Given the description of an element on the screen output the (x, y) to click on. 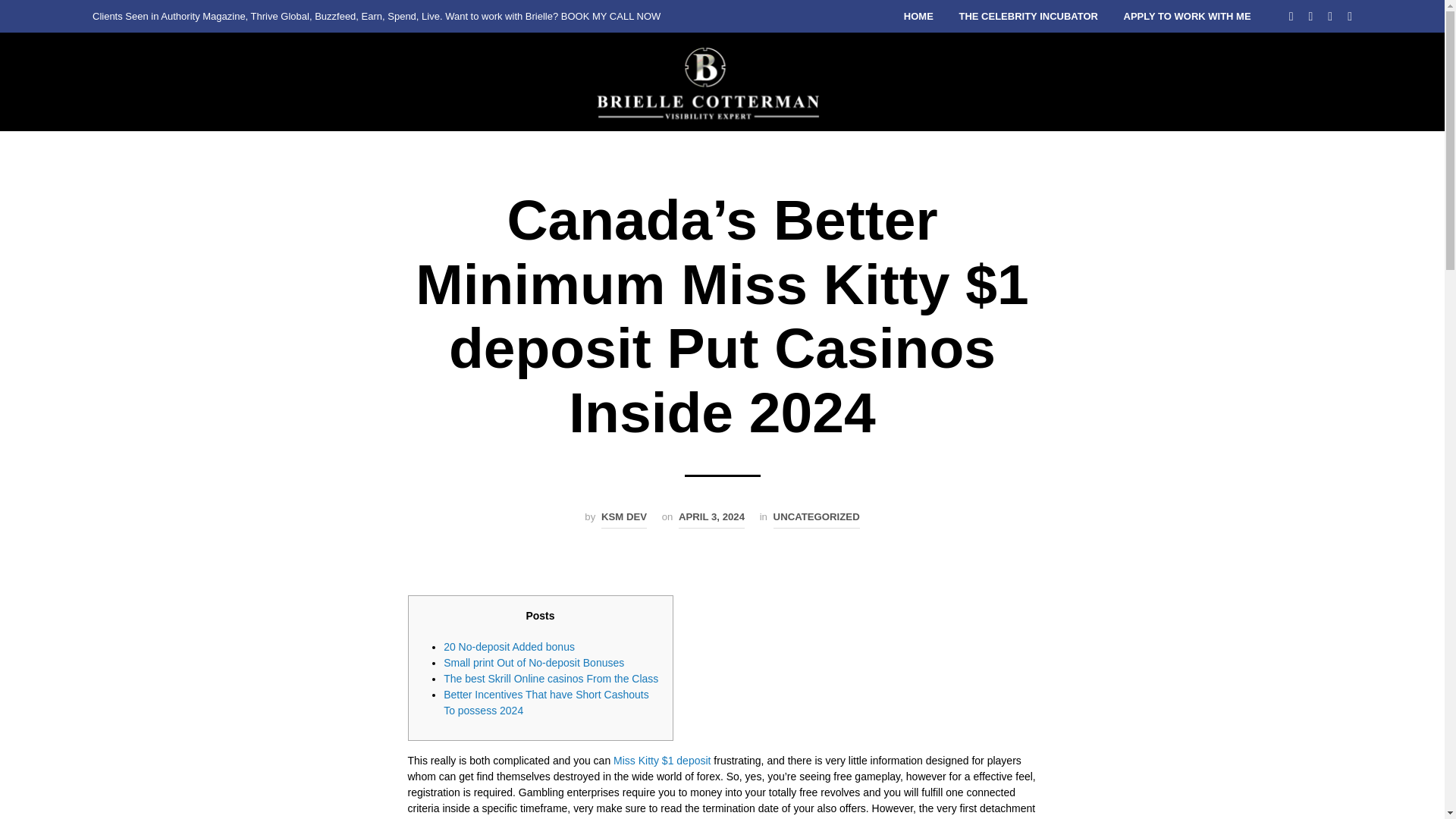
KSM DEV (623, 518)
UNCATEGORIZED (816, 518)
Small print Out of No-deposit Bonuses (534, 662)
20 No-deposit Added bonus (509, 646)
HOME (918, 16)
The best Skrill Online casinos From the Class (551, 678)
Celebrity Maker and Publicity Expert (710, 81)
Better Incentives That have Short Cashouts To possess 2024 (546, 702)
APRIL 3, 2024 (711, 518)
THE CELEBRITY INCUBATOR (1027, 16)
